Given the description of an element on the screen output the (x, y) to click on. 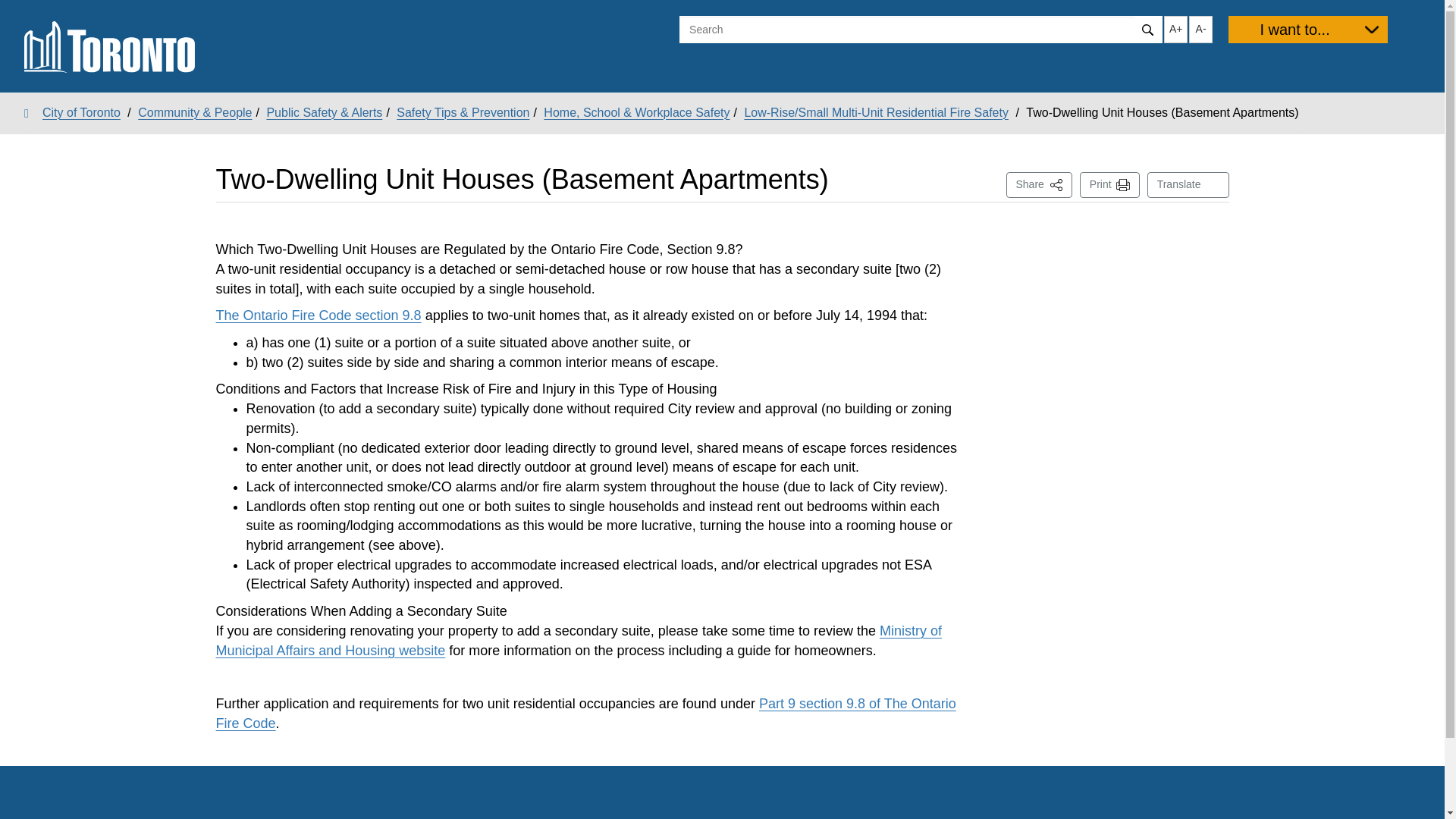
Part 9 section 9.8 of The Ontario Fire Code (585, 713)
Translate (1187, 184)
Print (1110, 184)
Skip to content (11, 11)
Ministry of Municipal Affairs and Housing website (1038, 184)
City of Toronto (578, 640)
Increase text size (72, 112)
The Ontario Fire Code section 9.8 (1175, 29)
I want to... (317, 314)
